Given the description of an element on the screen output the (x, y) to click on. 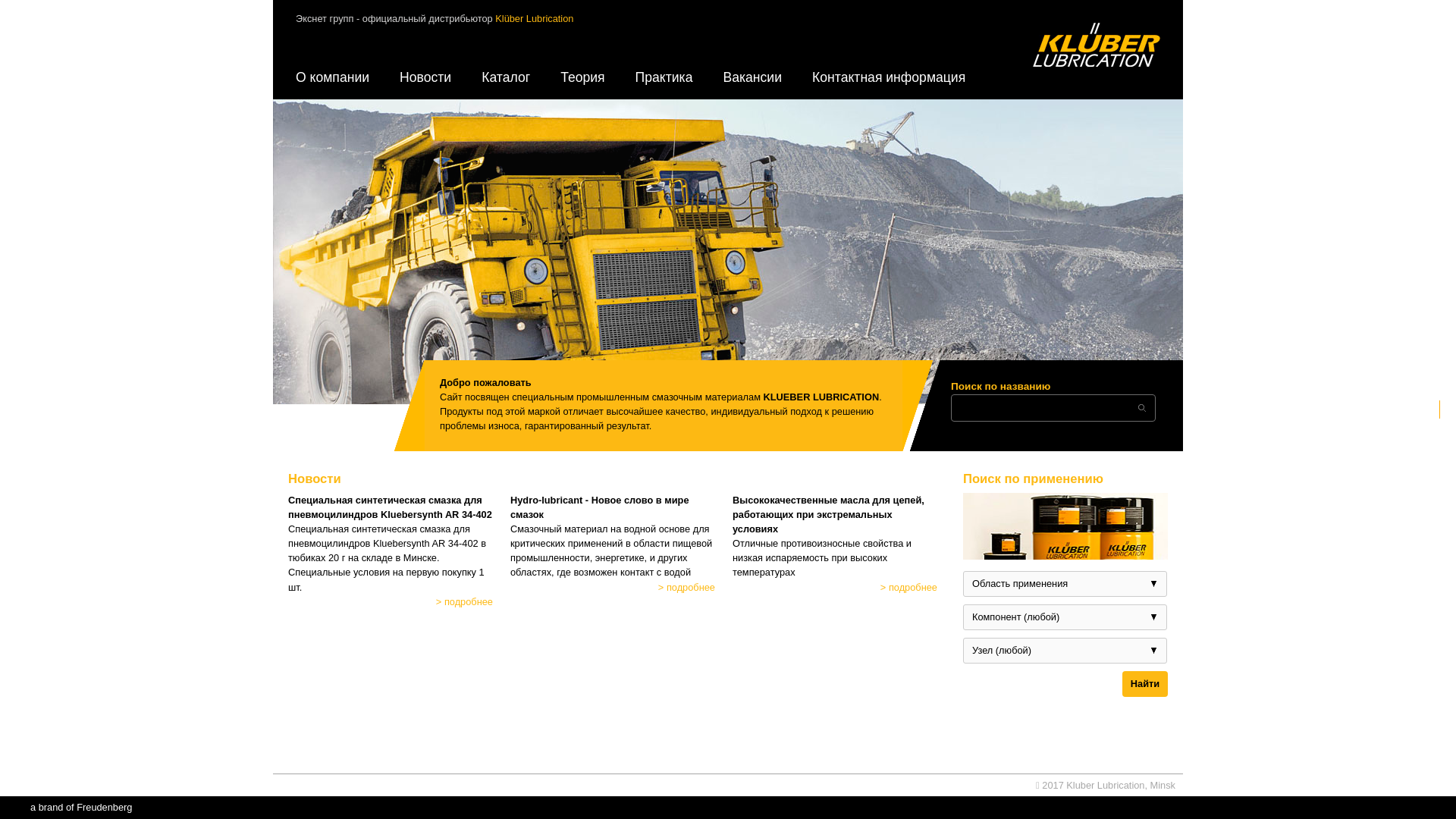
a brand of Freudenberg Element type: text (80, 806)
